Given the description of an element on the screen output the (x, y) to click on. 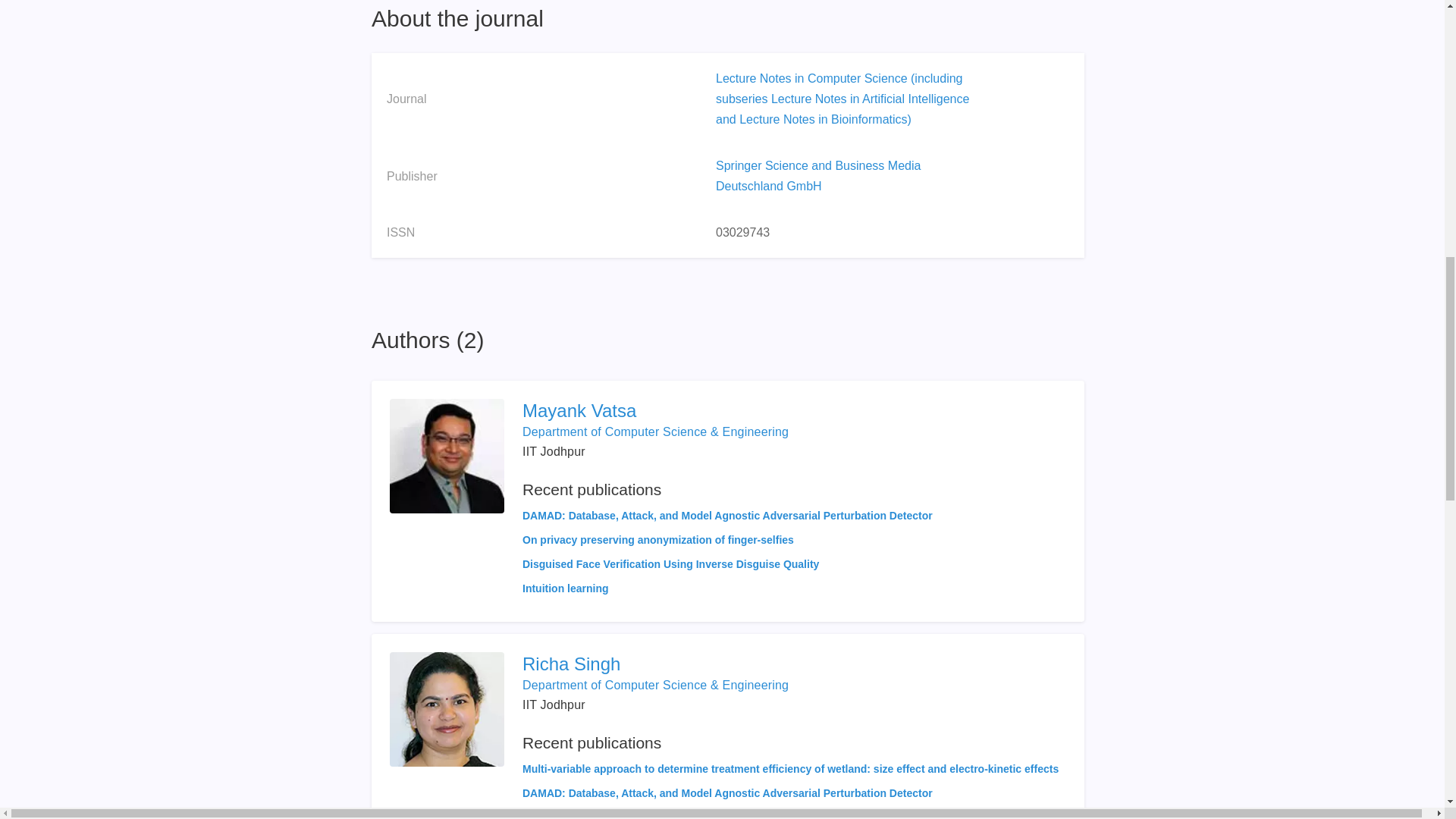
On privacy preserving anonymization of finger-selfies (657, 539)
On privacy preserving anonymization of finger-selfies (657, 815)
Richa Singh (790, 663)
Springer Science and Business Media Deutschland GmbH (818, 175)
Mayank Vatsa (727, 410)
Disguised Face Verification Using Inverse Disguise Quality (670, 563)
Intuition learning (565, 588)
